Given the description of an element on the screen output the (x, y) to click on. 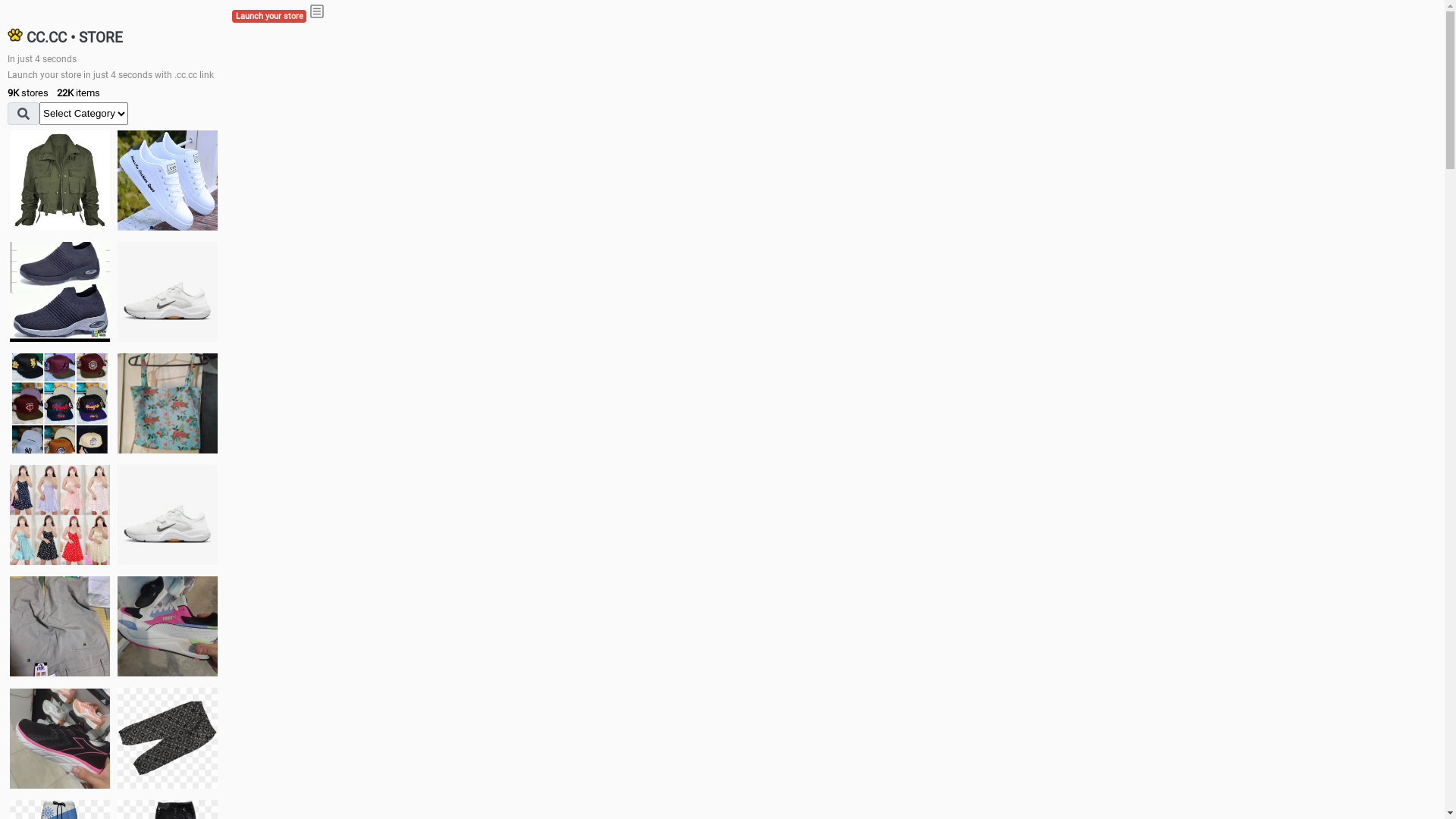
Launch your store Element type: text (269, 15)
Things we need Element type: hover (59, 403)
Shoes Element type: hover (167, 514)
Short pant Element type: hover (167, 737)
Zapatillas pumas Element type: hover (167, 626)
Ukay cloth Element type: hover (167, 403)
Zapatillas Element type: hover (59, 738)
jacket Element type: hover (59, 180)
Dress/square nect top Element type: hover (59, 514)
Shoes for boys Element type: hover (167, 291)
shoes for boys Element type: hover (59, 291)
white shoes Element type: hover (167, 180)
